Given the description of an element on the screen output the (x, y) to click on. 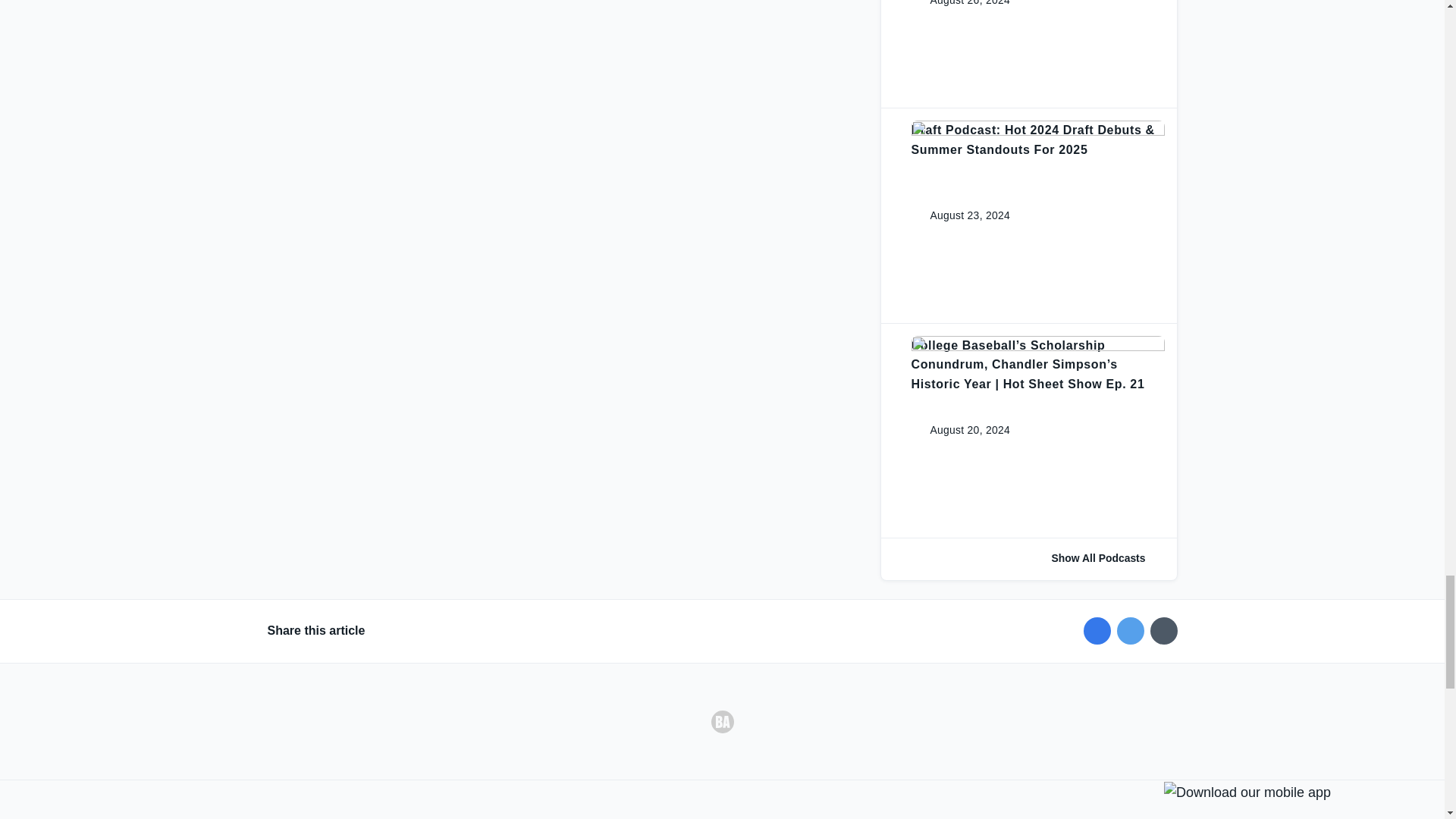
Share on Twitter (1129, 630)
Share on Facebook (1096, 630)
Share via email (1163, 630)
